Given the description of an element on the screen output the (x, y) to click on. 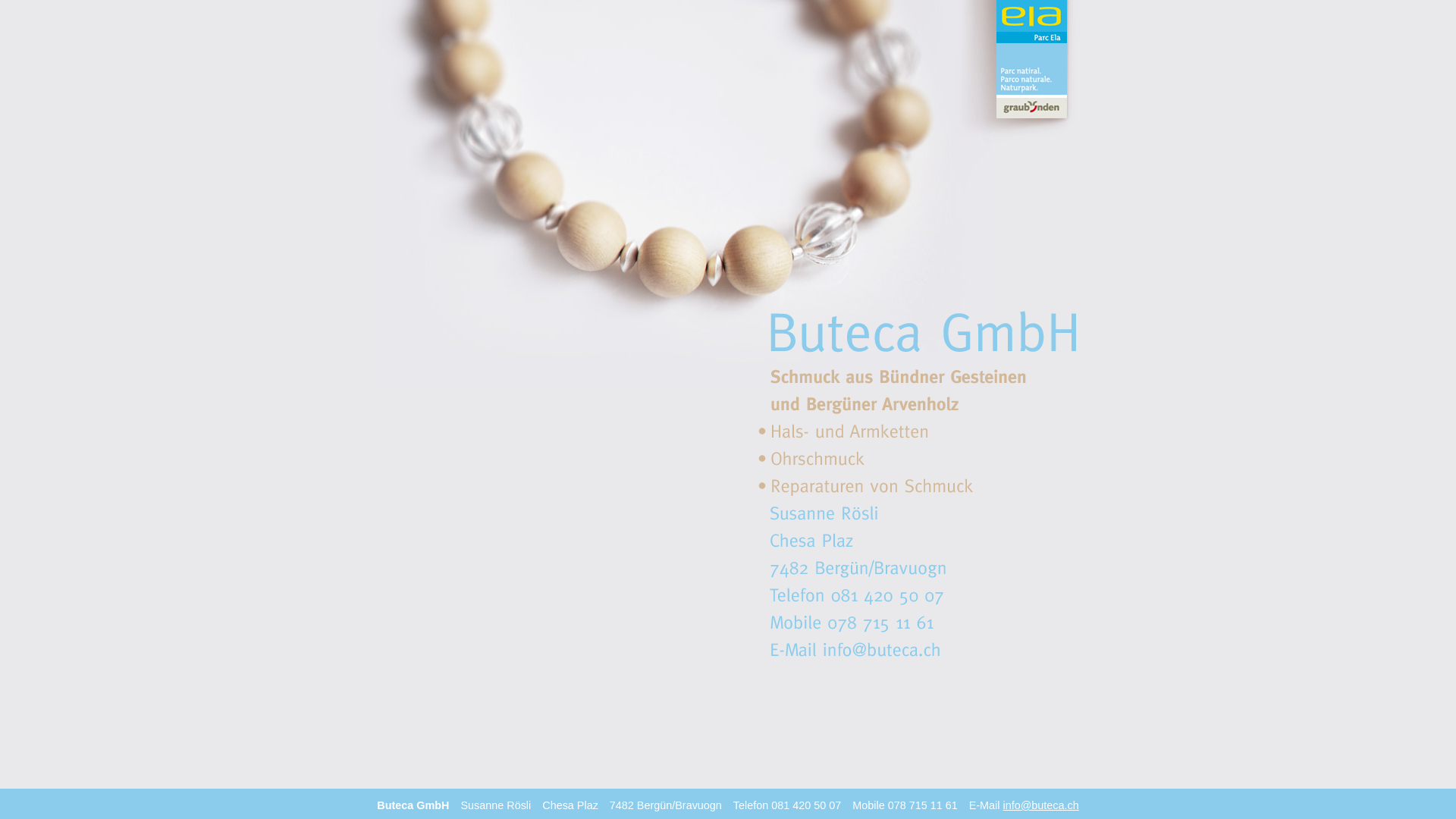
info@buteca.ch Element type: text (1040, 805)
Parc Ela Element type: text (1015, 71)
